Given the description of an element on the screen output the (x, y) to click on. 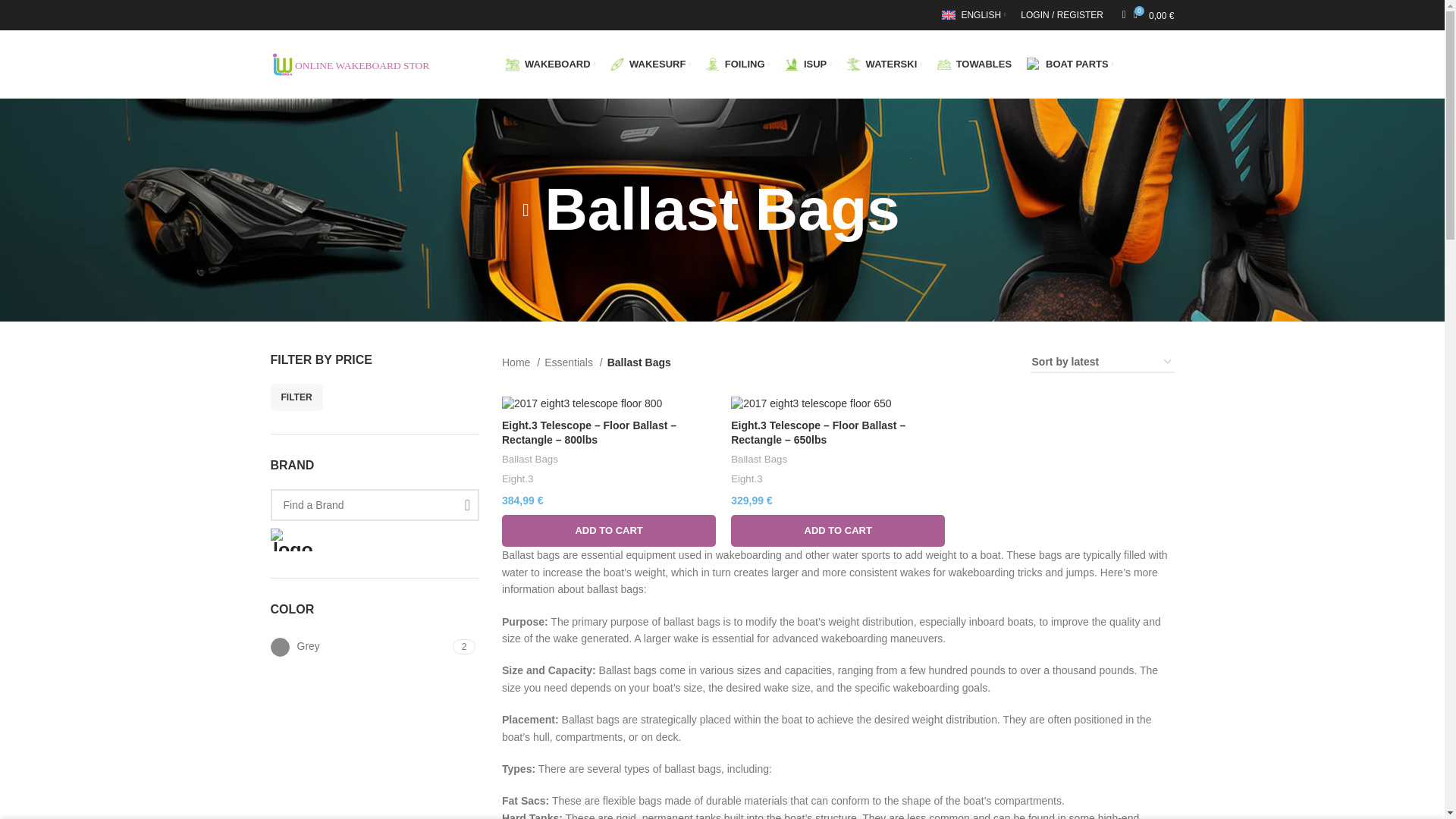
WAKEBOARD (550, 64)
ENGLISH (374, 648)
Shopping cart (974, 15)
My account (374, 648)
